Given the description of an element on the screen output the (x, y) to click on. 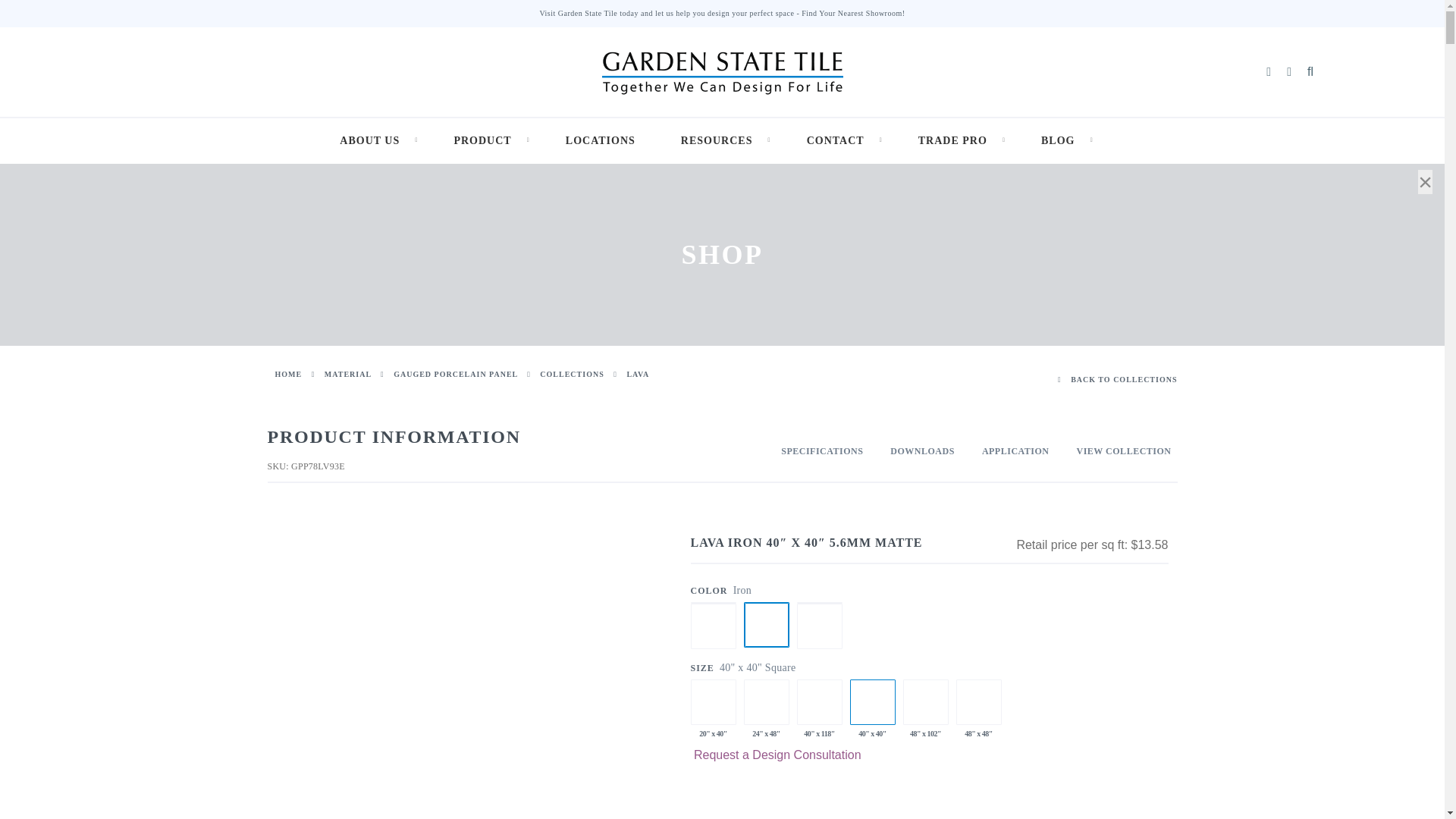
Iron 40" x 40" 3.5mm Matte (765, 624)
Corten 40" x 40" 3.5mm Matte (712, 602)
Corten 40" x 40" 3.5mm Matte (712, 626)
Iron 40" x 40" 3.5mm Matte (871, 701)
Iron 20" x 40" 3.5mm Matte (712, 701)
Marron 40" x 40" 3.5mm Matte (818, 602)
Iron 24" x 48" 5.6mm Matte (765, 701)
Marron 40" x 40" 3.5mm Matte (818, 626)
Iron 48" x 102" 3.5mm Matte (924, 701)
Iron 48" x 48" 5.6mm Matte (978, 701)
Iron 40" x 118" 3.5mm Matte (818, 701)
